Given the description of an element on the screen output the (x, y) to click on. 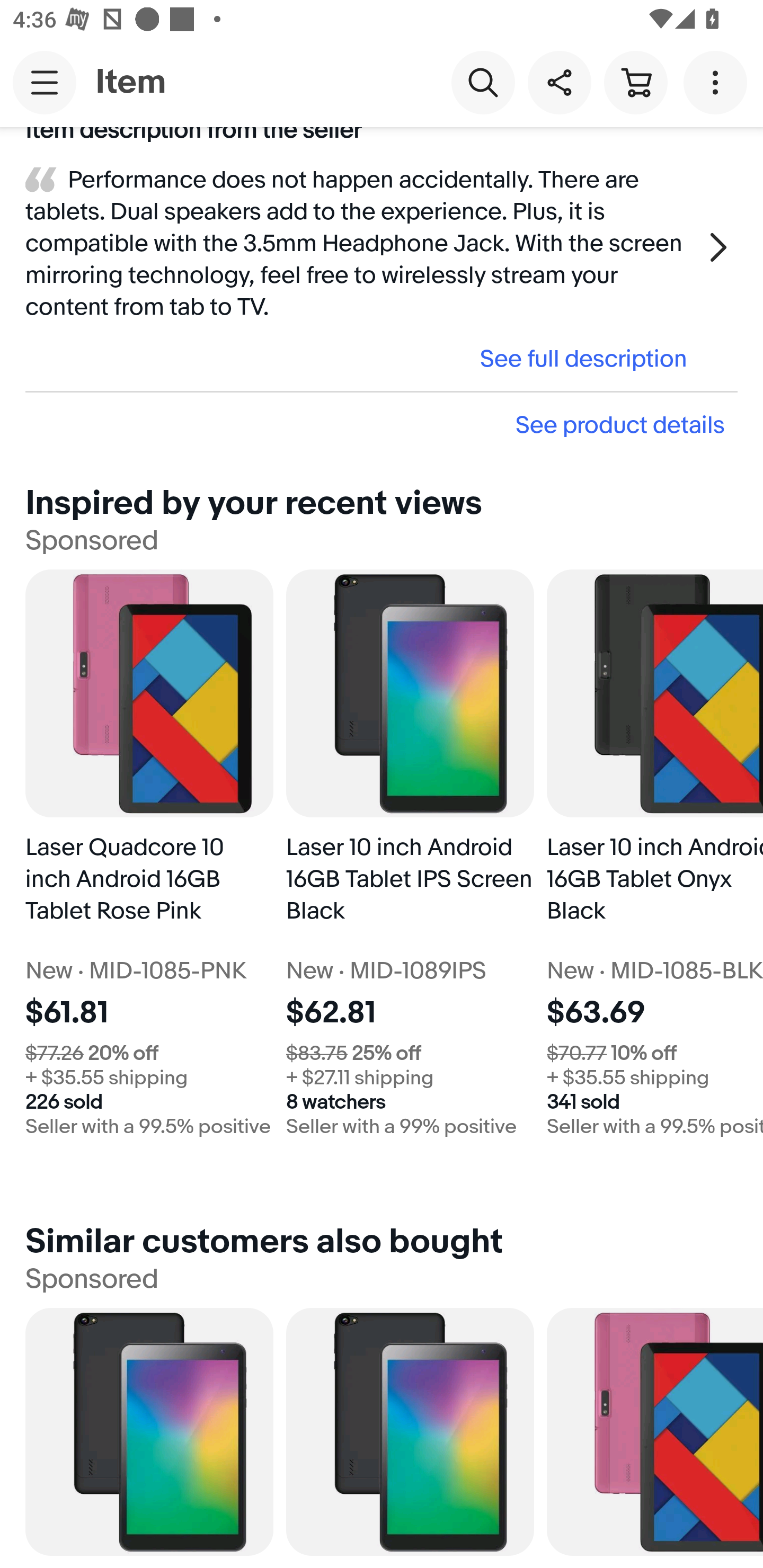
Main navigation, open (44, 82)
Search (482, 81)
Share this item (559, 81)
Cart button shopping cart (635, 81)
More options (718, 81)
See full description (362, 357)
See product details (381, 423)
